Given the description of an element on the screen output the (x, y) to click on. 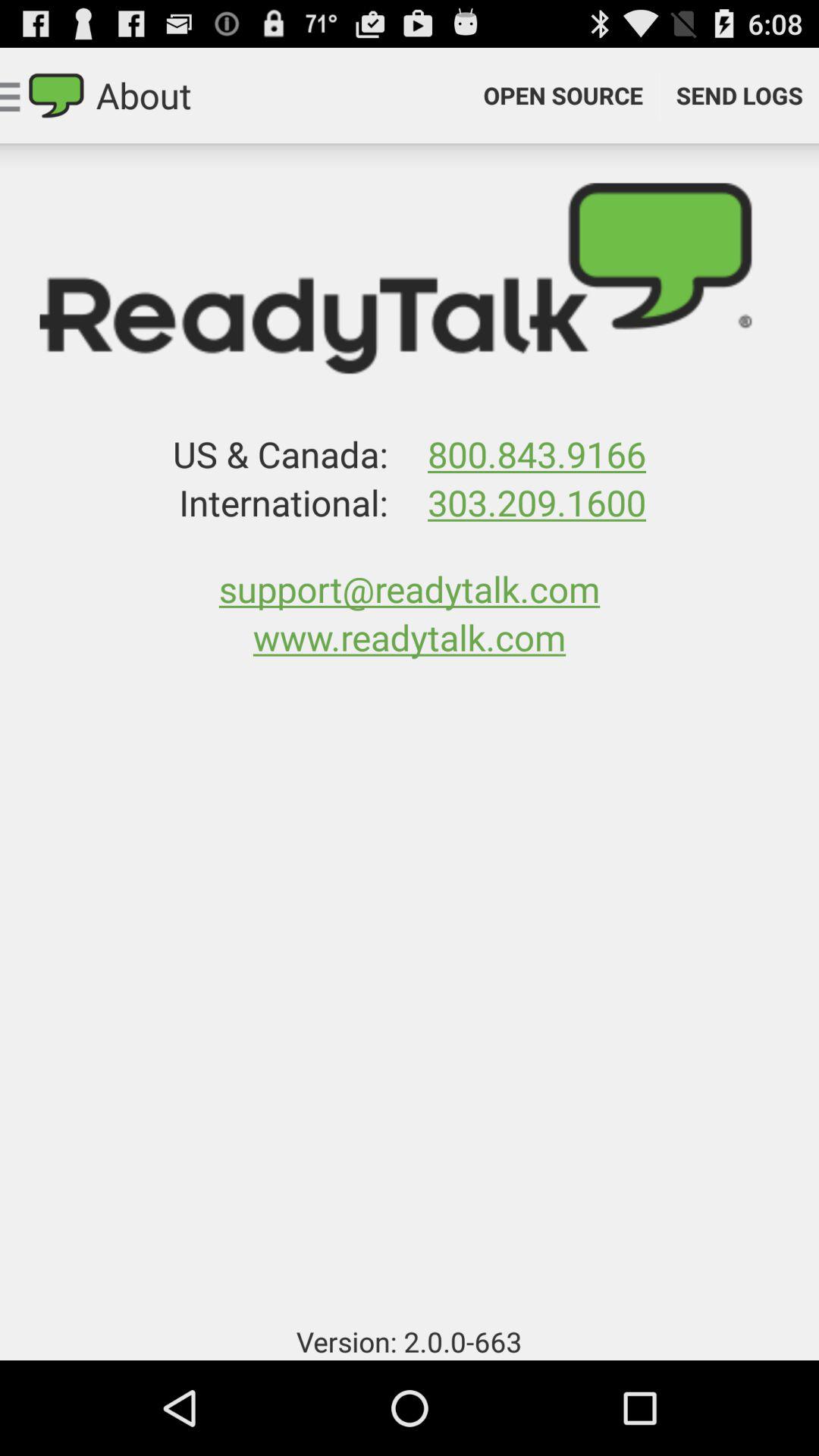
swipe until the open source icon (563, 95)
